Given the description of an element on the screen output the (x, y) to click on. 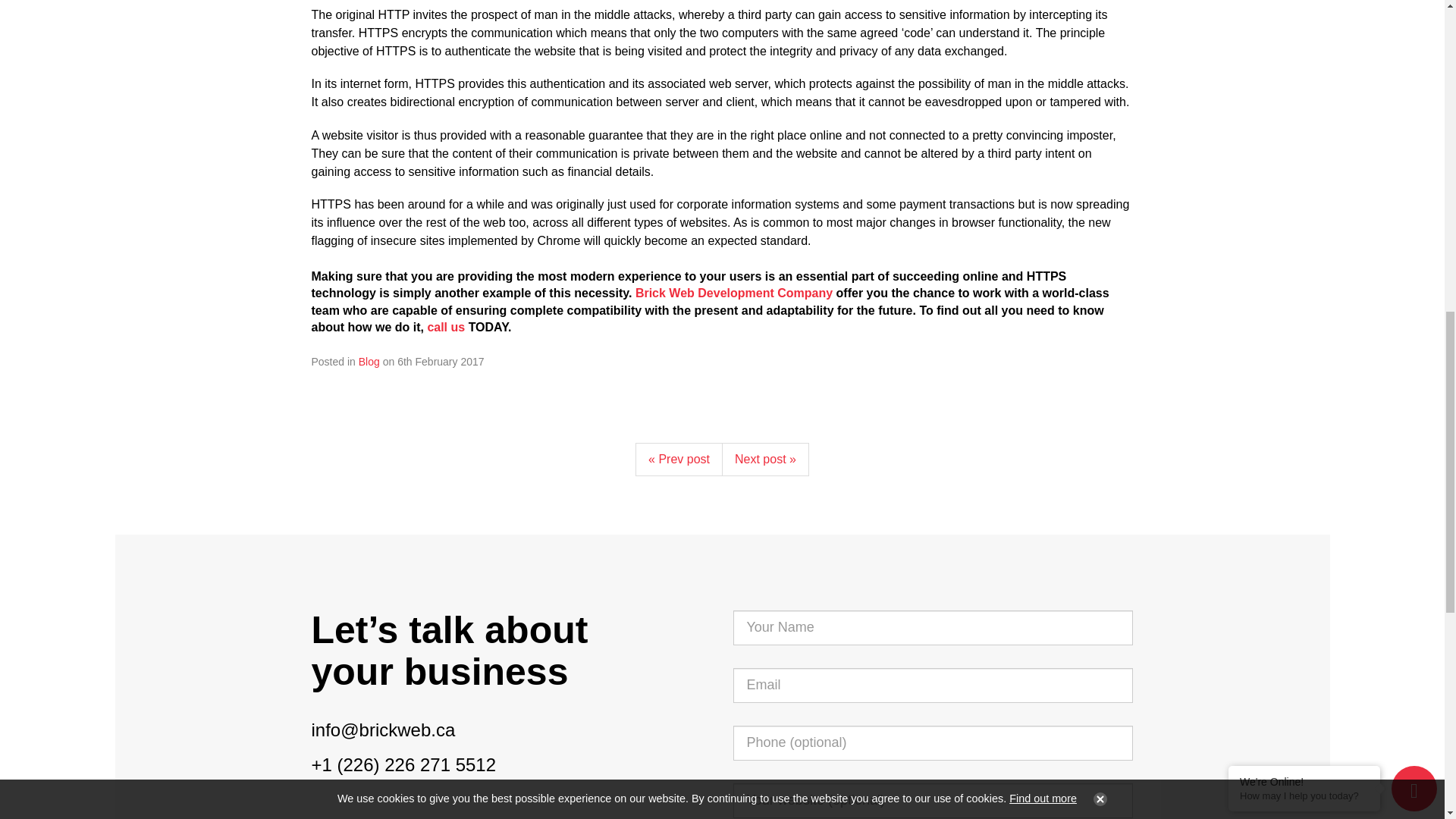
Blog (369, 361)
call us (445, 327)
Brick Web Development Company (733, 292)
